Given the description of an element on the screen output the (x, y) to click on. 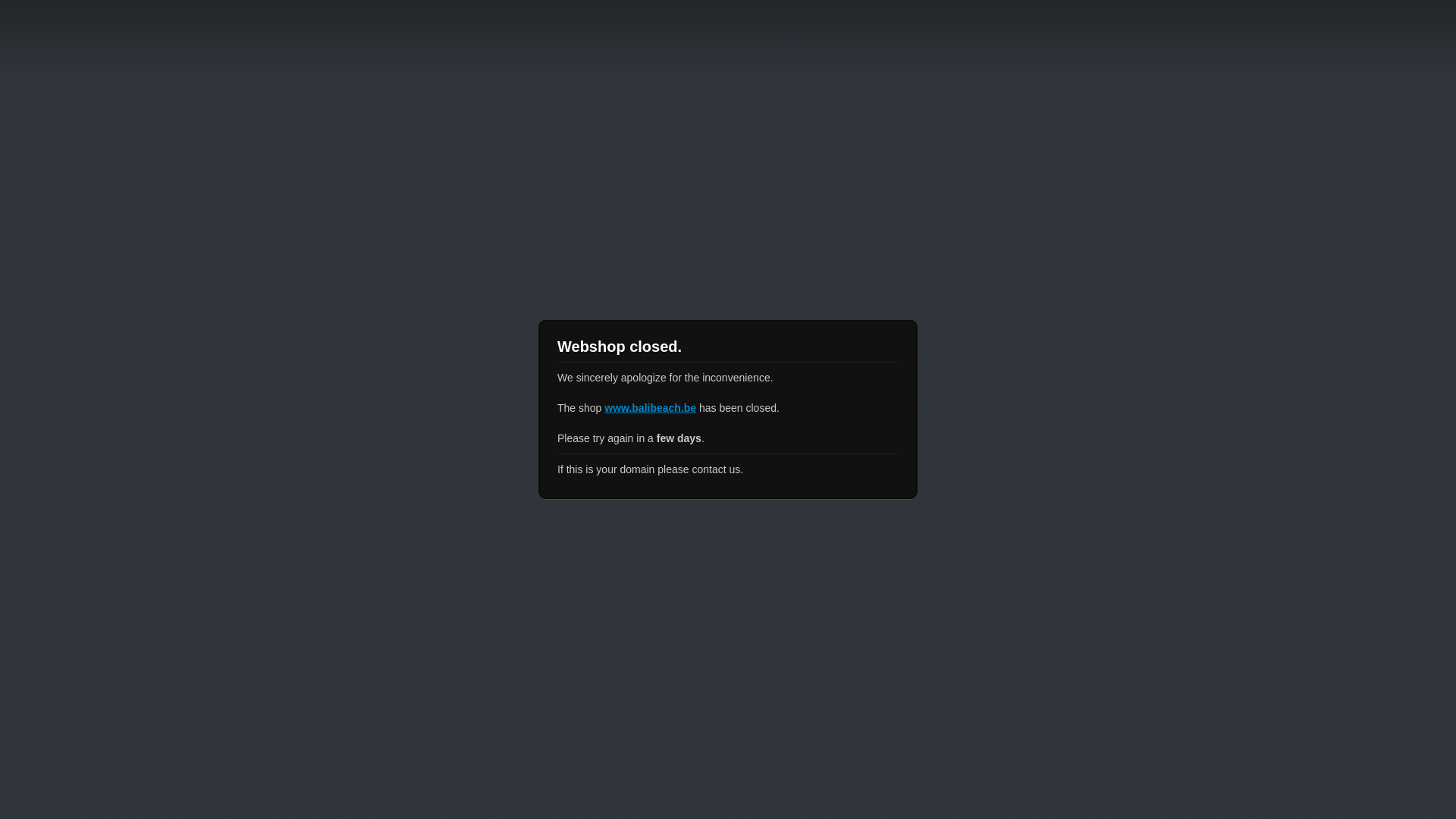
www.balibeach.be Element type: text (650, 407)
